Given the description of an element on the screen output the (x, y) to click on. 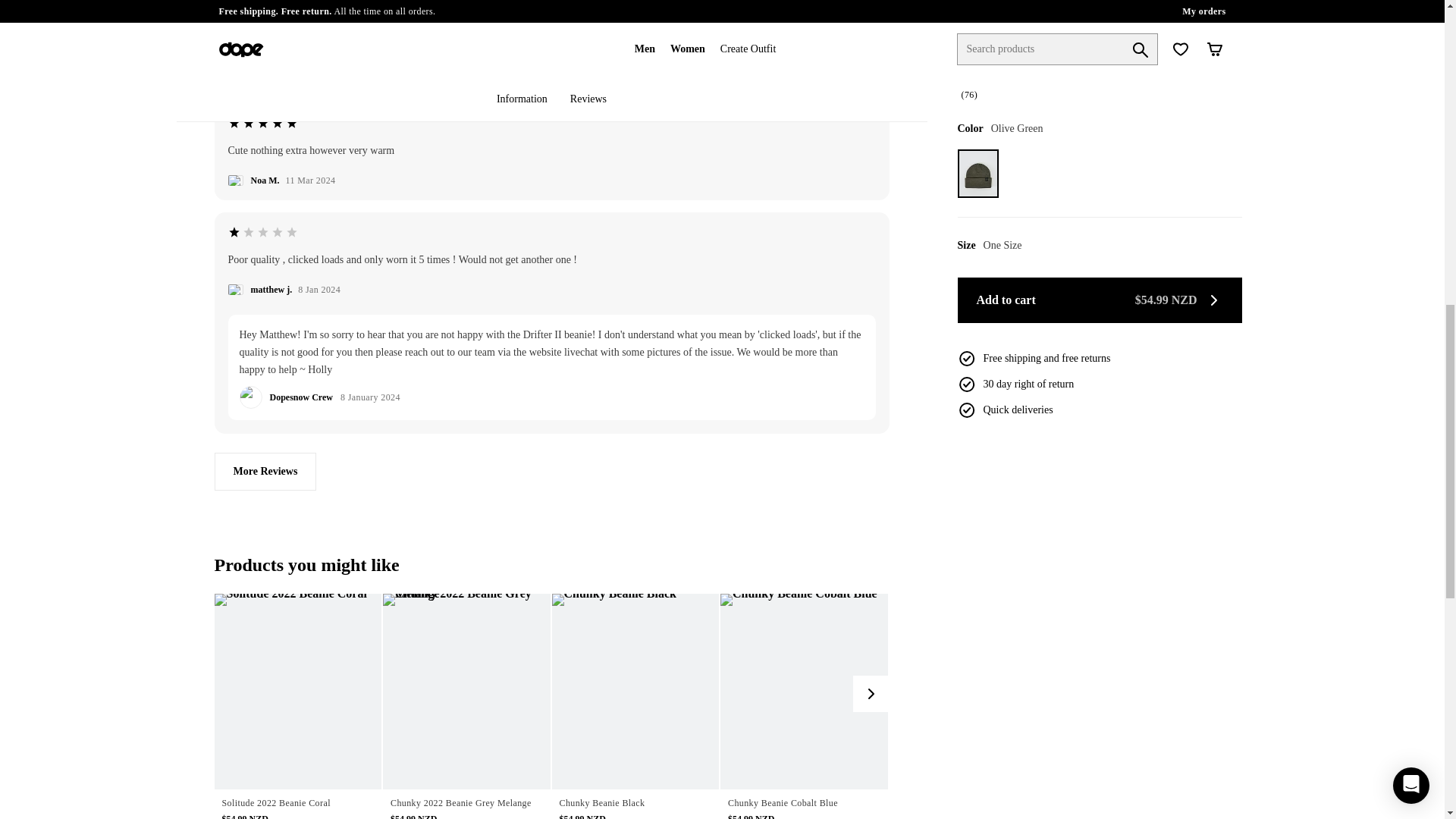
More Reviews (264, 471)
5 stars (262, 122)
5 stars (262, 12)
1 stars (262, 232)
